Given the description of an element on the screen output the (x, y) to click on. 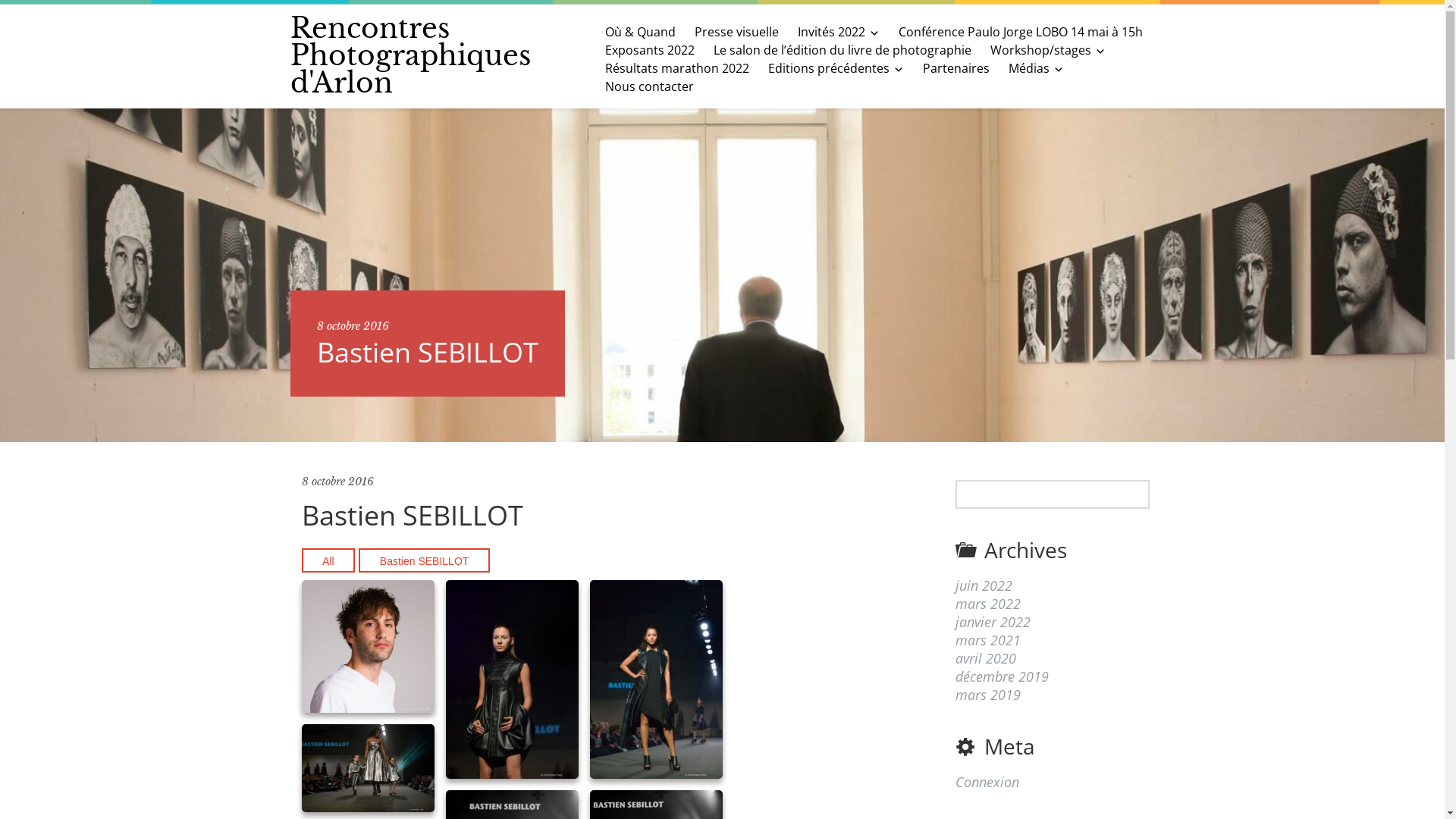
Connexion Element type: text (987, 781)
Rencontres Photographiques d'Arlon Element type: text (409, 55)
mars 2022 Element type: text (987, 603)
Styliste : Bastien SEBILLOT Element type: hover (655, 679)
Styliste : Bastien SEBILLOT Element type: hover (367, 768)
Styliste : Bastien SEBILLOT Element type: hover (367, 768)
8 octobre 2016 Element type: text (337, 481)
mars 2019 Element type: text (987, 694)
Search for: Element type: hover (1052, 494)
Styliste : Bastien SEBILLOT Element type: hover (655, 679)
Styliste : Bastien SEBILLOT Element type: hover (511, 679)
8 octobre 2016 Element type: text (352, 325)
Presse visuelle Element type: text (736, 31)
Bastien SEBILLOT Element type: text (423, 560)
avril 2020 Element type: text (985, 658)
All Element type: text (328, 560)
Bastien SEBILLOT Element type: hover (367, 646)
janvier 2022 Element type: text (992, 621)
Exposants 2022 Element type: text (649, 49)
juin 2022 Element type: text (983, 585)
Styliste : Bastien SEBILLOT Element type: hover (511, 679)
Partenaires Element type: text (955, 68)
Nous contacter Element type: text (649, 86)
mars 2021 Element type: text (987, 639)
Workshop/stages Element type: text (1047, 49)
